Given the description of an element on the screen output the (x, y) to click on. 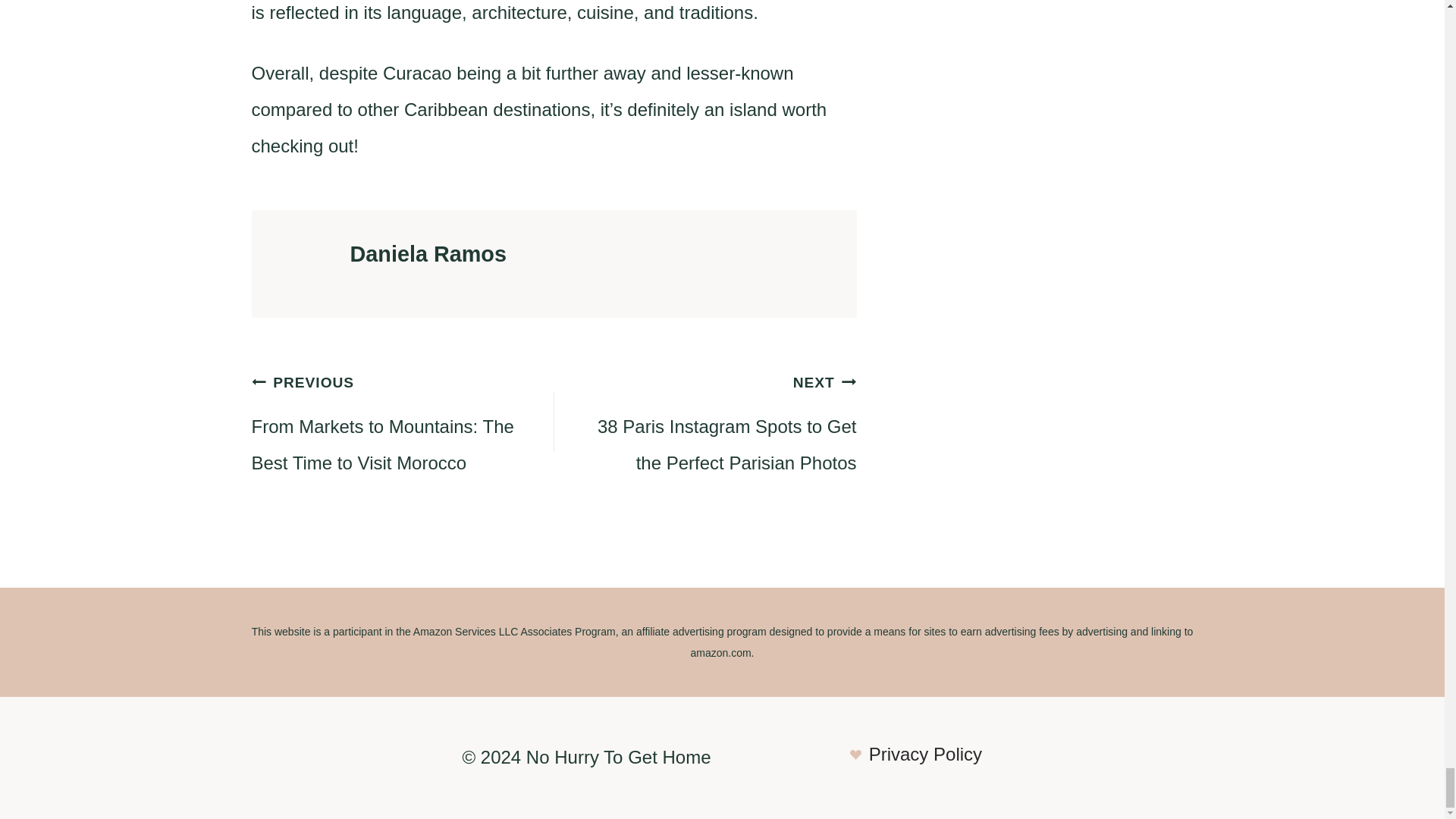
Posts by Daniela Ramos (428, 253)
